Given the description of an element on the screen output the (x, y) to click on. 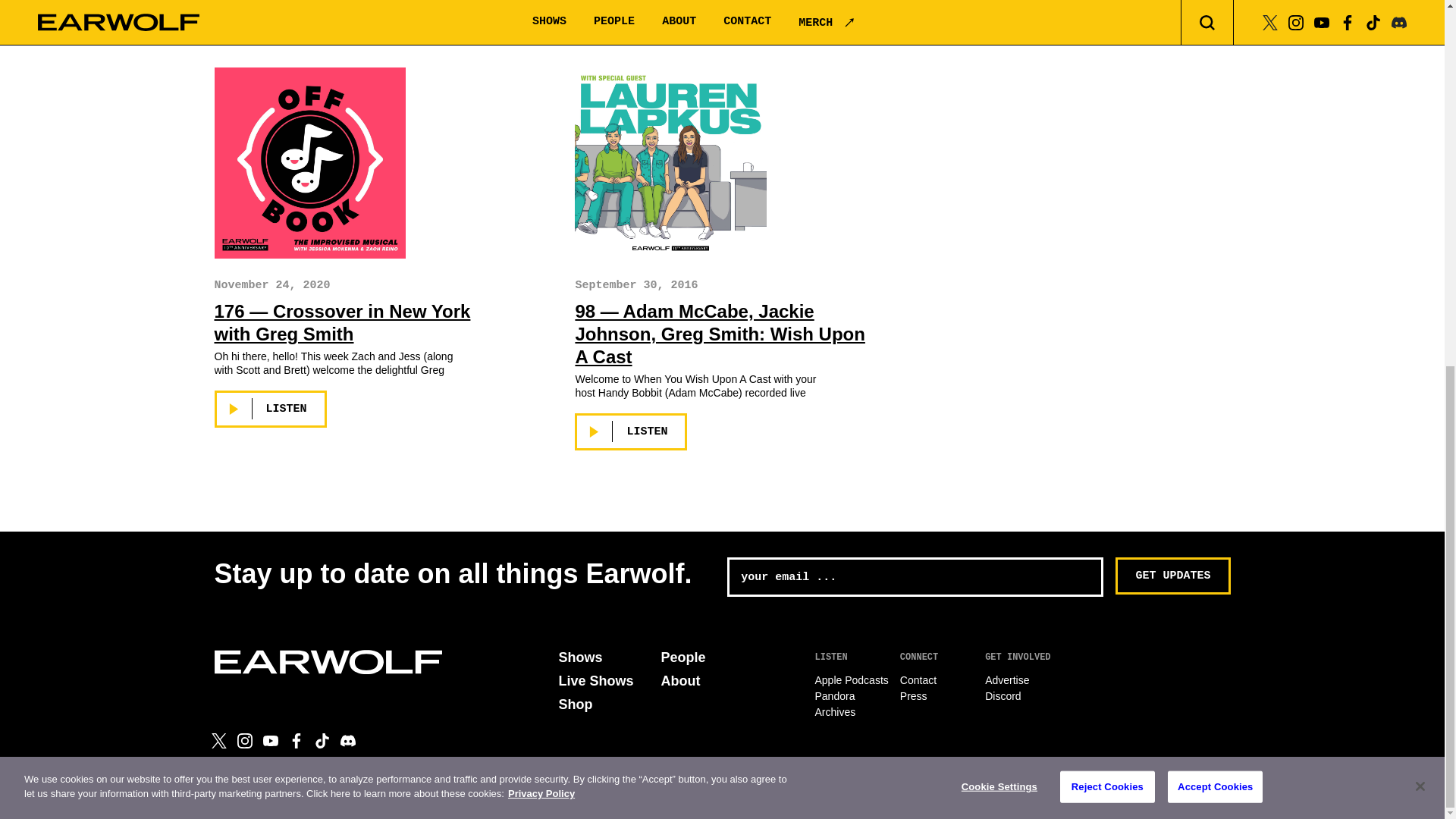
Contact (917, 680)
Get Updates (1172, 575)
Instagram (243, 740)
LISTEN (270, 408)
Shows (579, 657)
Pandora (833, 695)
Earwolf (327, 662)
Apple Podcasts (850, 680)
People (683, 657)
Get Updates (1172, 575)
